Given the description of an element on the screen output the (x, y) to click on. 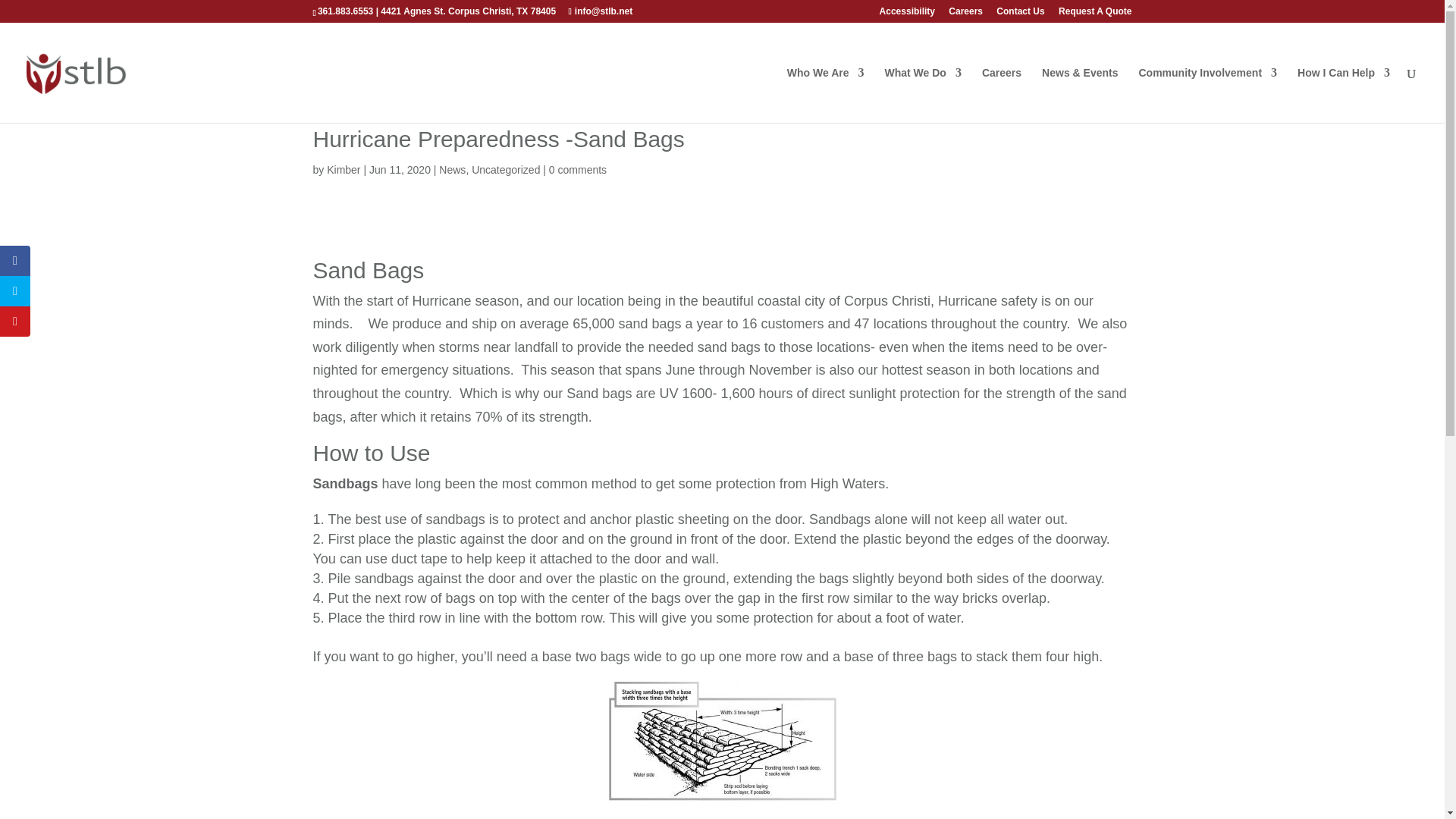
News (452, 169)
How I Can Help (1343, 94)
Request A Quote (1094, 14)
Careers (965, 14)
Community Involvement (1207, 94)
What We Do (921, 94)
Uncategorized (505, 169)
0 comments (577, 169)
Posts by Kimber (342, 169)
Contact Us (1019, 14)
